Given the description of an element on the screen output the (x, y) to click on. 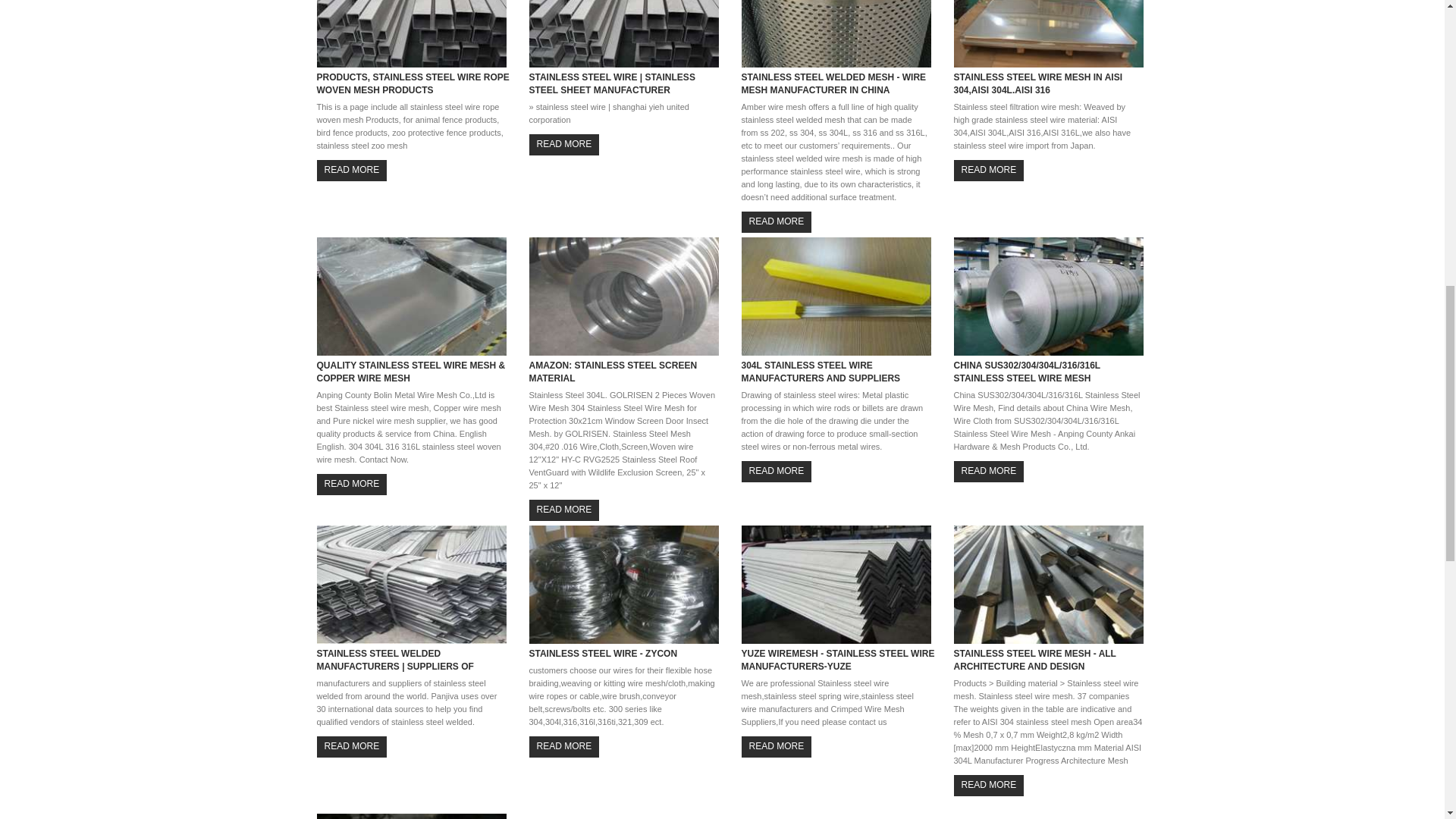
READ MORE (352, 746)
READ MORE (776, 471)
READ MORE (989, 784)
READ MORE (776, 746)
READ MORE (989, 471)
READ MORE (352, 484)
READ MORE (989, 169)
READ MORE (564, 746)
READ MORE (564, 144)
READ MORE (352, 169)
